Given the description of an element on the screen output the (x, y) to click on. 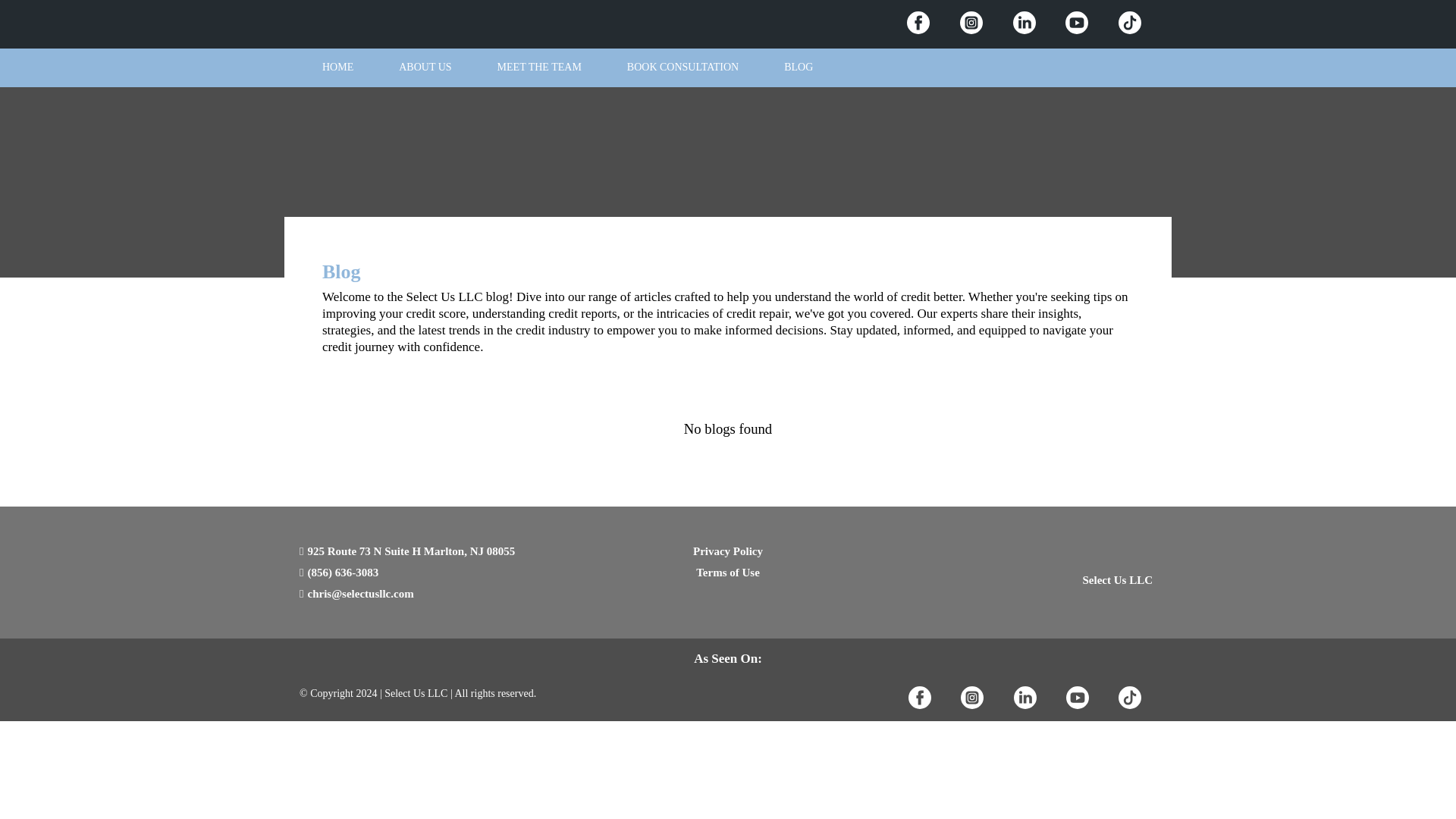
BLOG (798, 67)
Privacy Policy (727, 550)
925 Route 73 N Suite H Marlton, NJ 08055 (408, 550)
Select Us LLC (1117, 579)
MEET THE TEAM (539, 67)
Terms of Use (727, 572)
ABOUT US (424, 67)
HOME (337, 67)
BOOK CONSULTATION (682, 67)
